Given the description of an element on the screen output the (x, y) to click on. 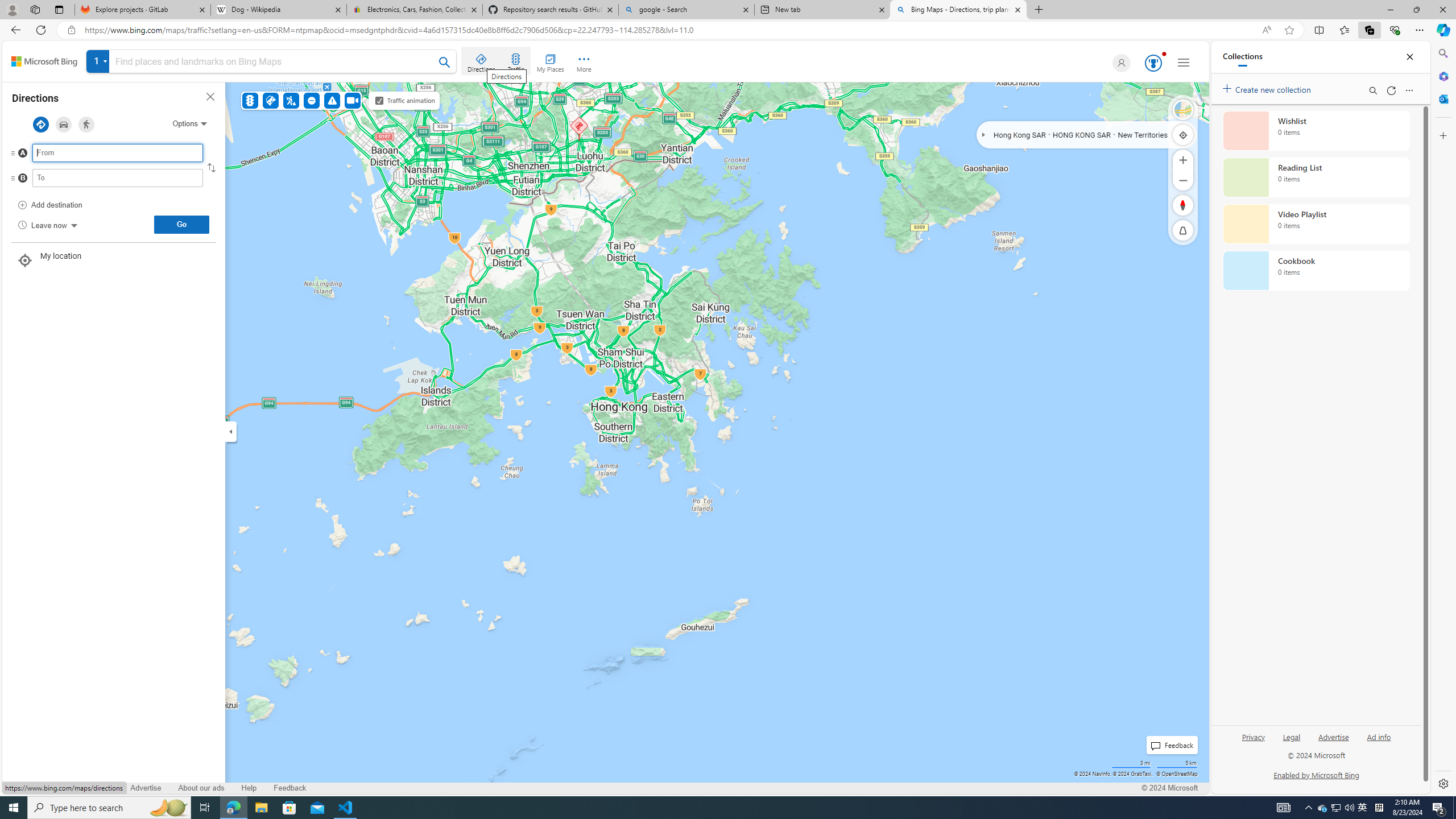
A (95, 155)
Wishlist collection, 0 items (1316, 130)
More options menu (1409, 90)
My location, item 1 (113, 261)
Legal (1292, 741)
 View all your searches (97, 60)
Settings and quick links (1183, 62)
Dog - Wikipedia (277, 9)
AutomationID: serp_medal_svg (1152, 63)
Legal (1291, 736)
Miscellaneous incidents (332, 100)
Satellite (1182, 109)
